Given the description of an element on the screen output the (x, y) to click on. 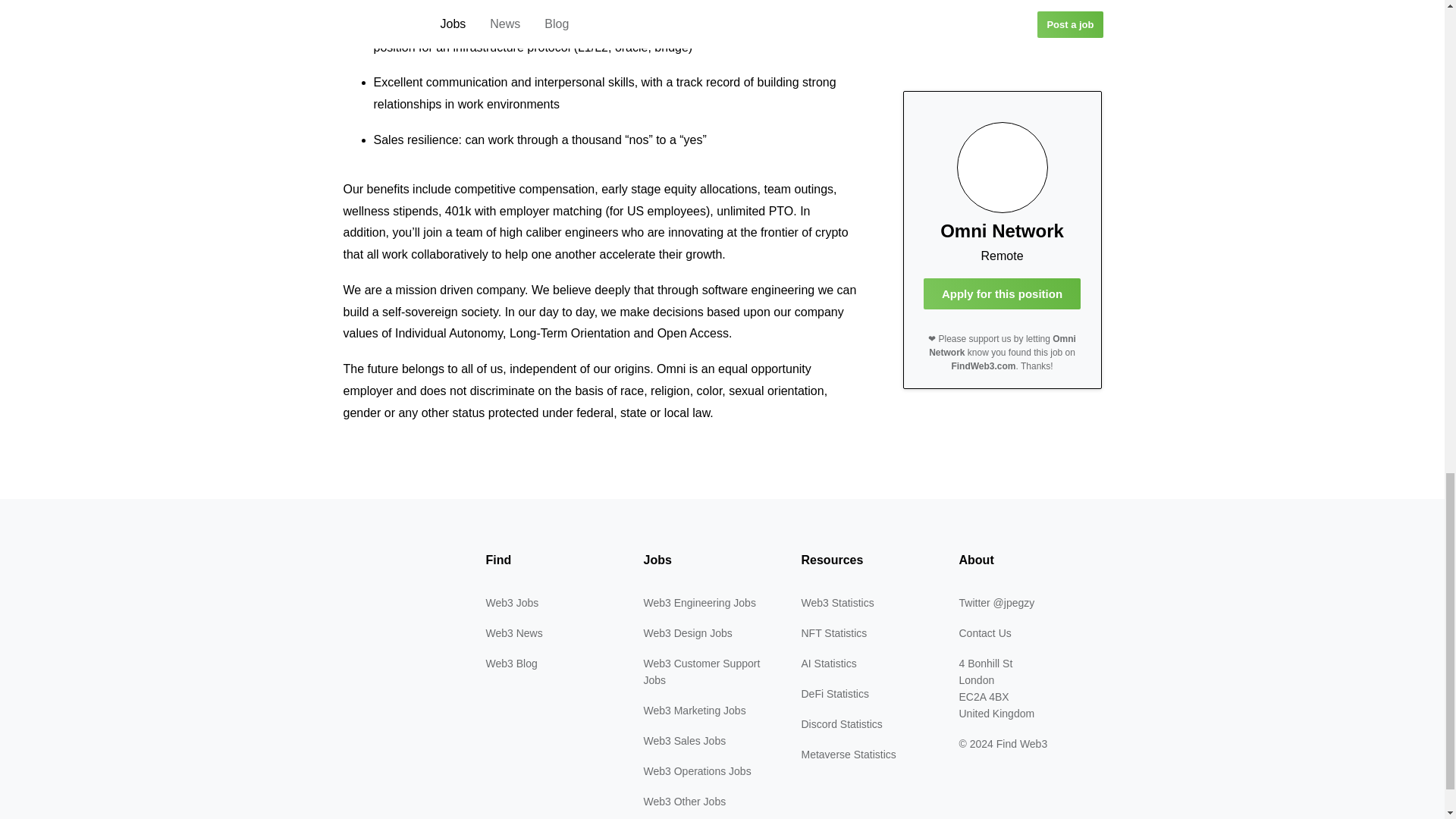
NFT Statistics (833, 633)
Discord Statistics (841, 724)
Web3 Statistics (836, 603)
DeFi Statistics (833, 693)
Web3 Operations Jobs (697, 770)
Web3 Engineering Jobs (699, 603)
Web3 News (512, 633)
Web3 Jobs (511, 603)
AI Statistics (828, 663)
Web3 Other Jobs (684, 801)
Web3 Blog (510, 663)
Contact Us (984, 633)
Web3 Marketing Jobs (694, 710)
Web3 Customer Support Jobs (701, 671)
Metaverse Statistics (847, 754)
